Given the description of an element on the screen output the (x, y) to click on. 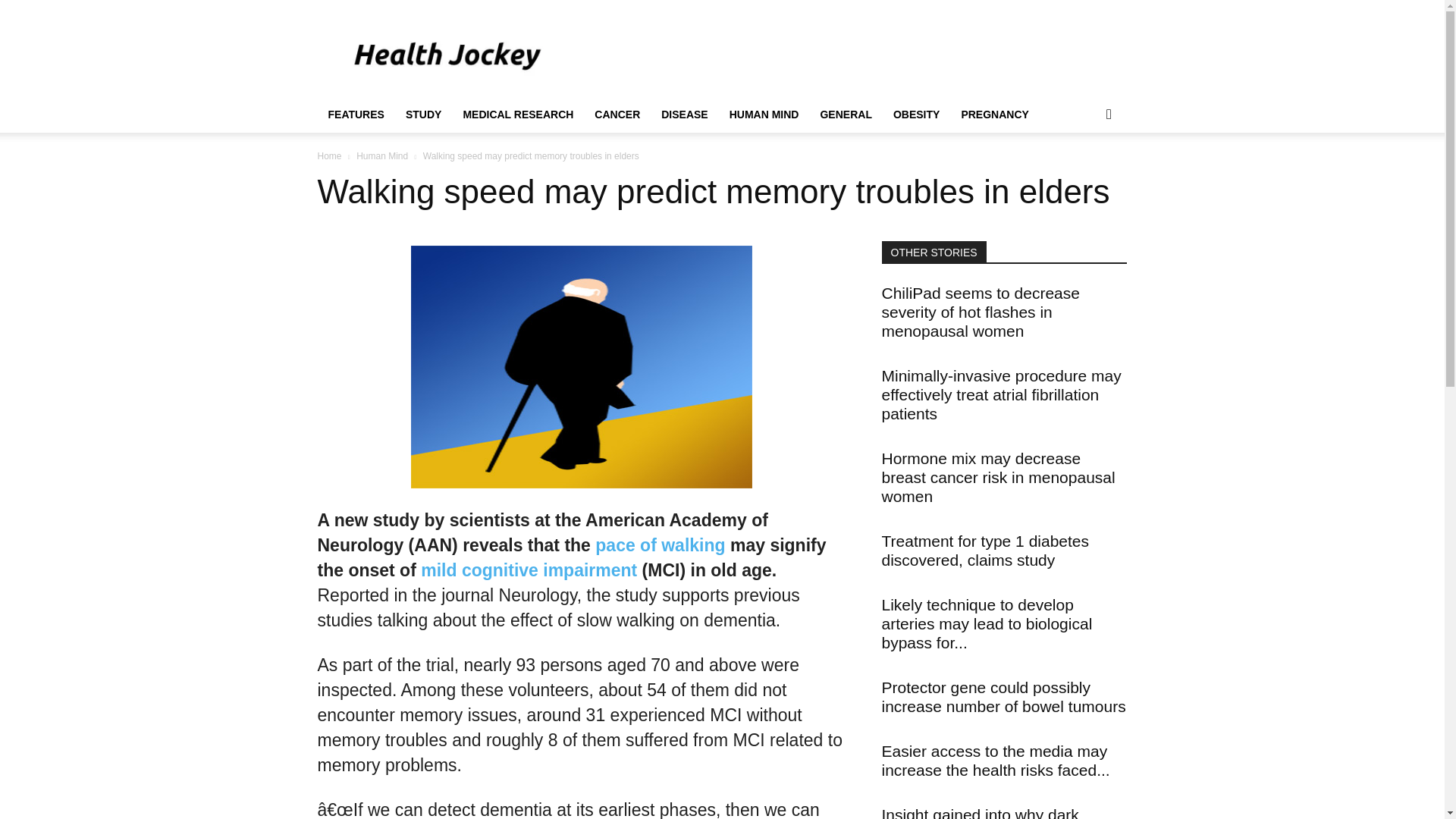
pace of walking (660, 545)
CANCER (616, 114)
Search (1085, 174)
Home (328, 155)
STUDY (422, 114)
PREGNANCY (994, 114)
DISEASE (683, 114)
GENERAL (845, 114)
FEATURES (355, 114)
OBESITY (916, 114)
